Given the description of an element on the screen output the (x, y) to click on. 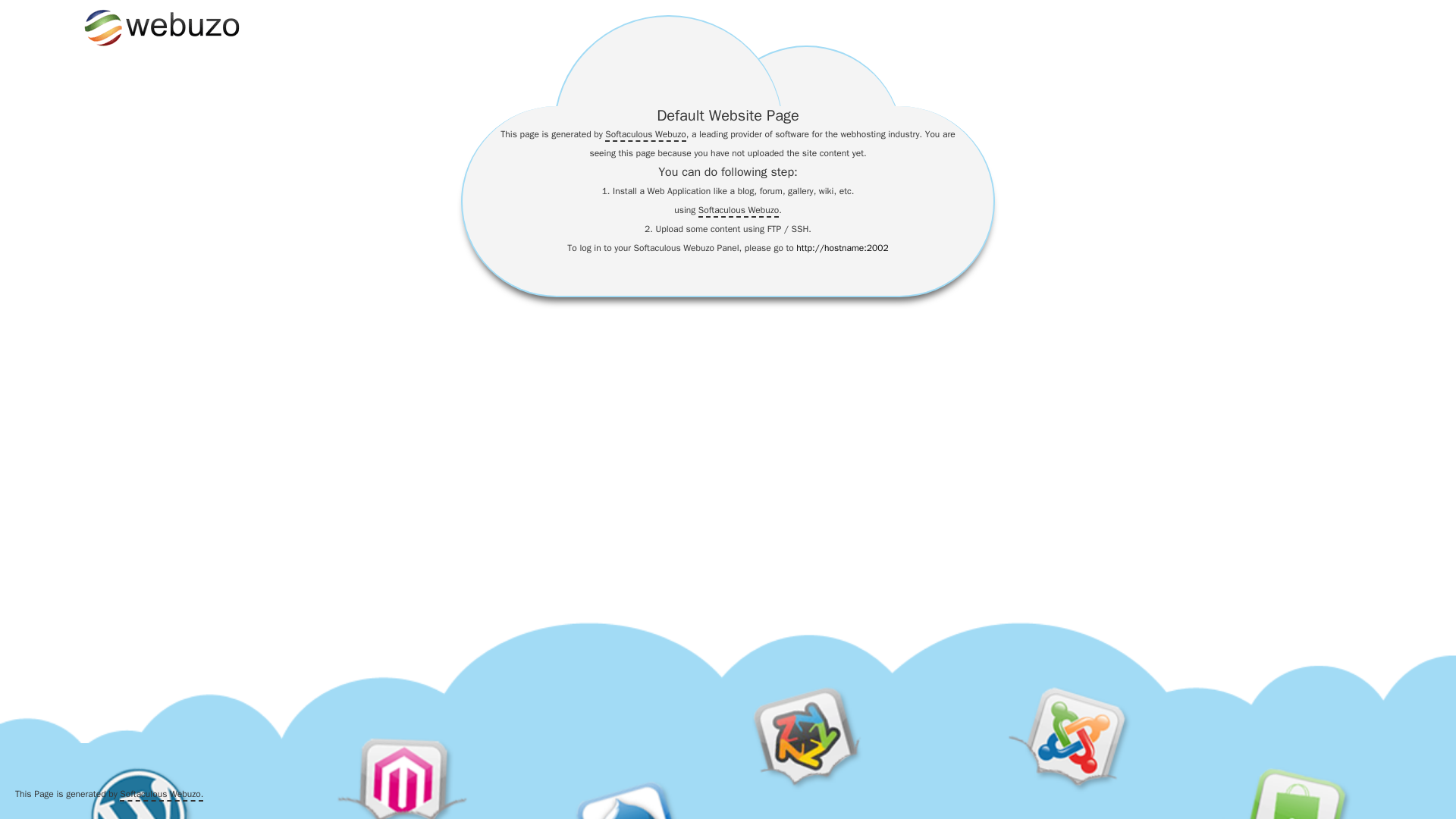
Softaculous Webuzo (738, 210)
Softaculous Webuzo (645, 134)
